Given the description of an element on the screen output the (x, y) to click on. 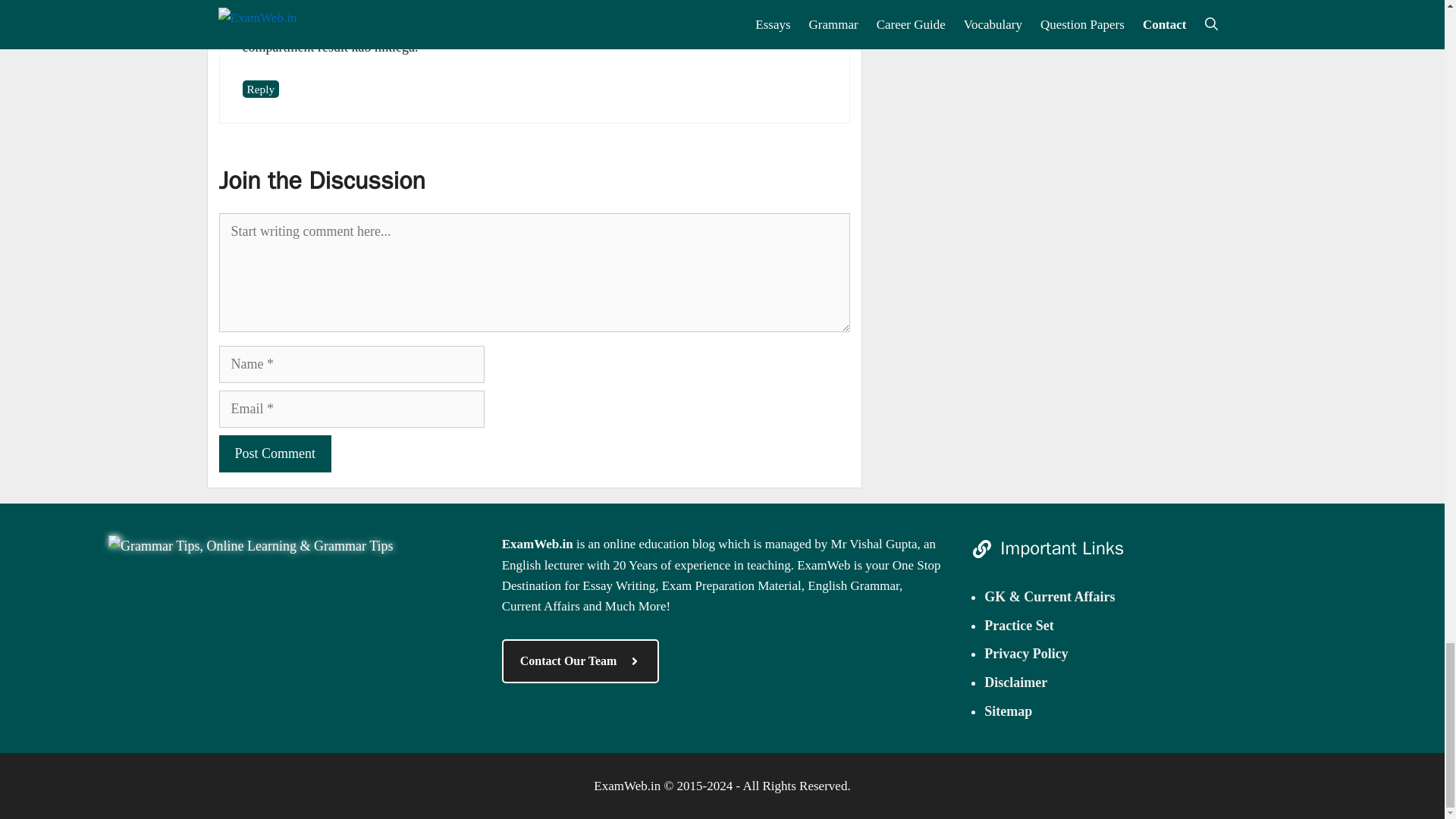
examweb.in (250, 546)
Post Comment (274, 453)
Reply (261, 88)
Post Comment (274, 453)
